Given the description of an element on the screen output the (x, y) to click on. 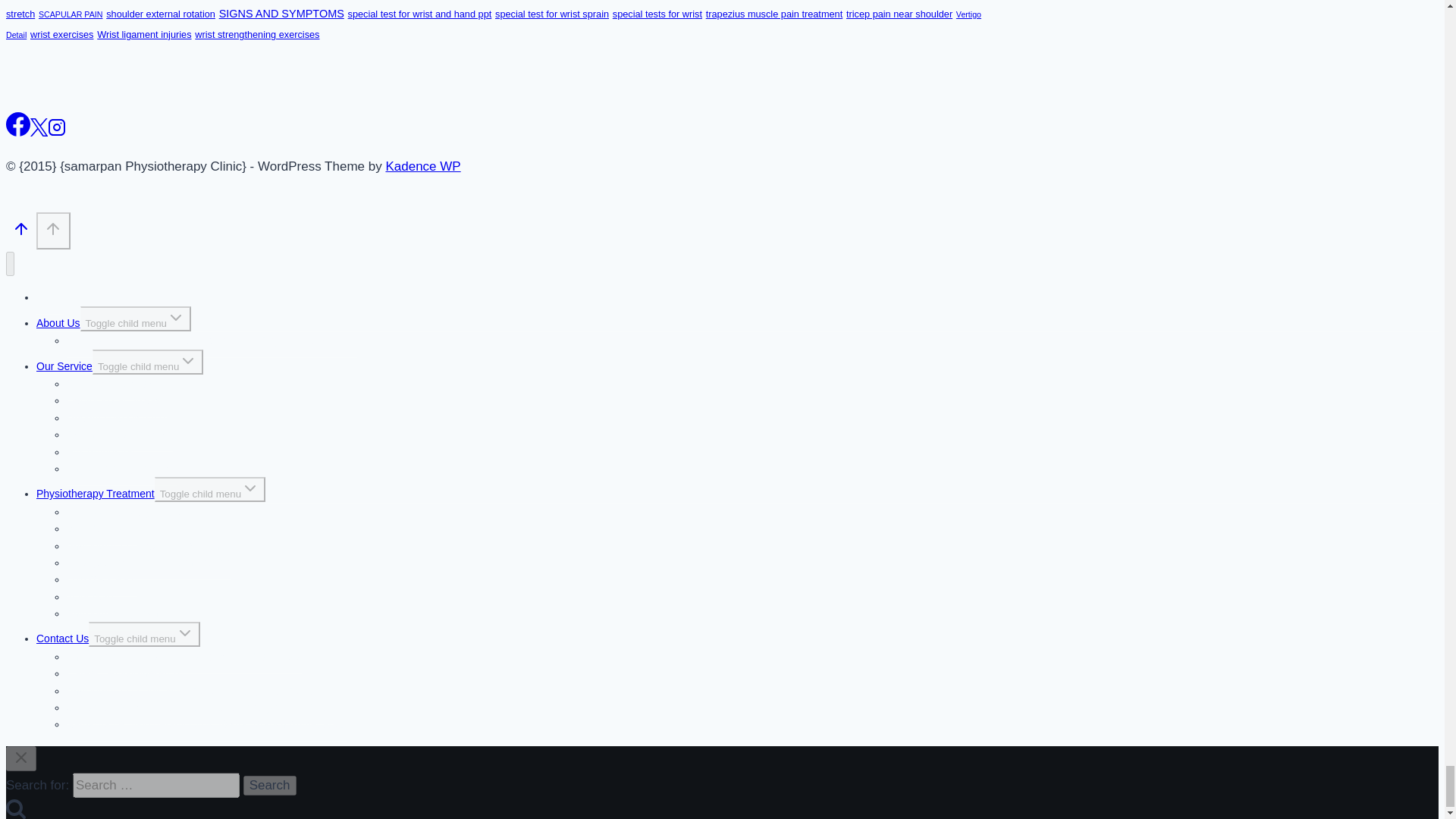
Scroll to top (52, 230)
Search (270, 785)
Scroll to top (20, 232)
Search (270, 785)
